Given the description of an element on the screen output the (x, y) to click on. 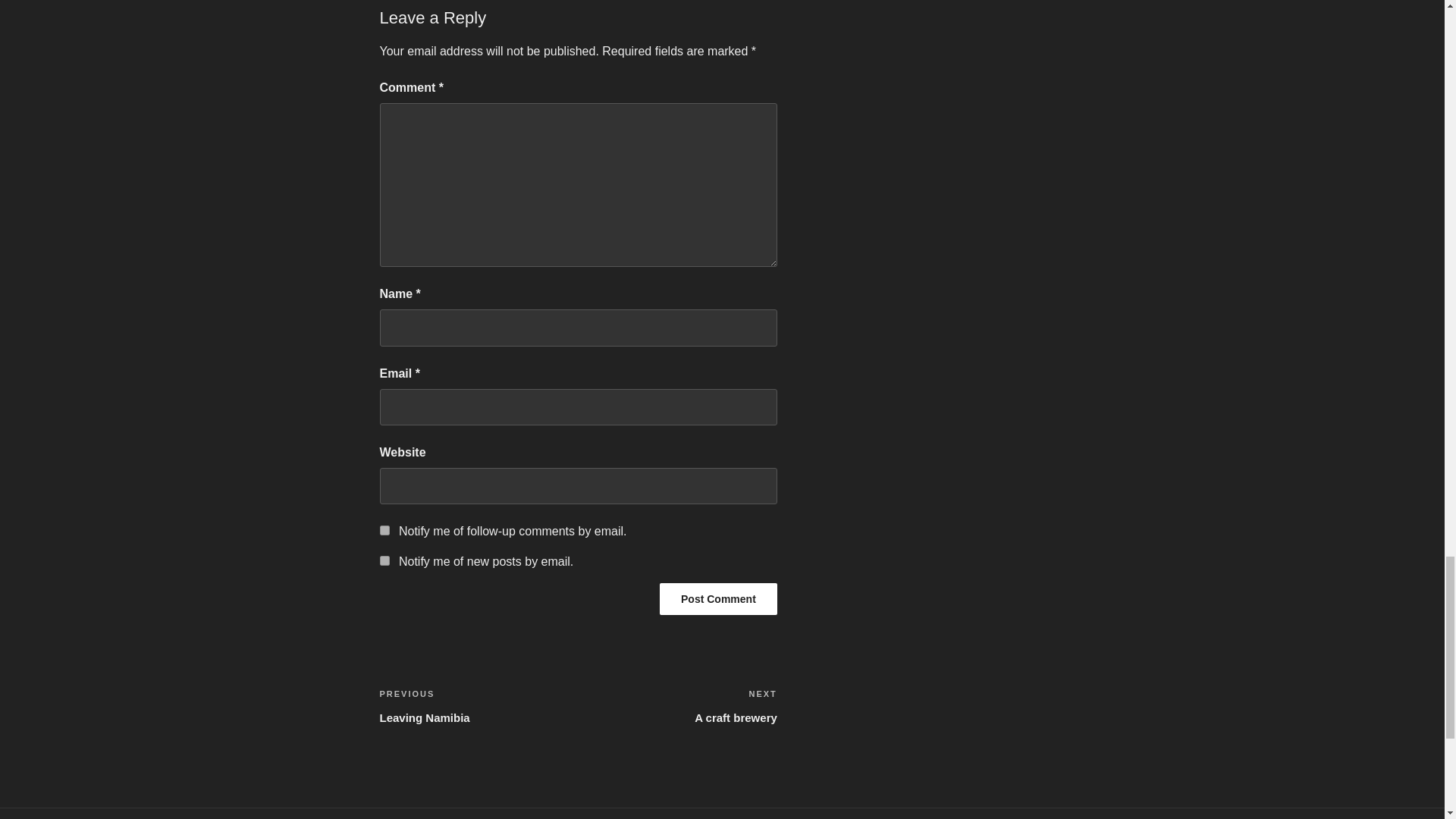
Post Comment (478, 705)
subscribe (718, 599)
subscribe (677, 705)
Post Comment (383, 560)
